Given the description of an element on the screen output the (x, y) to click on. 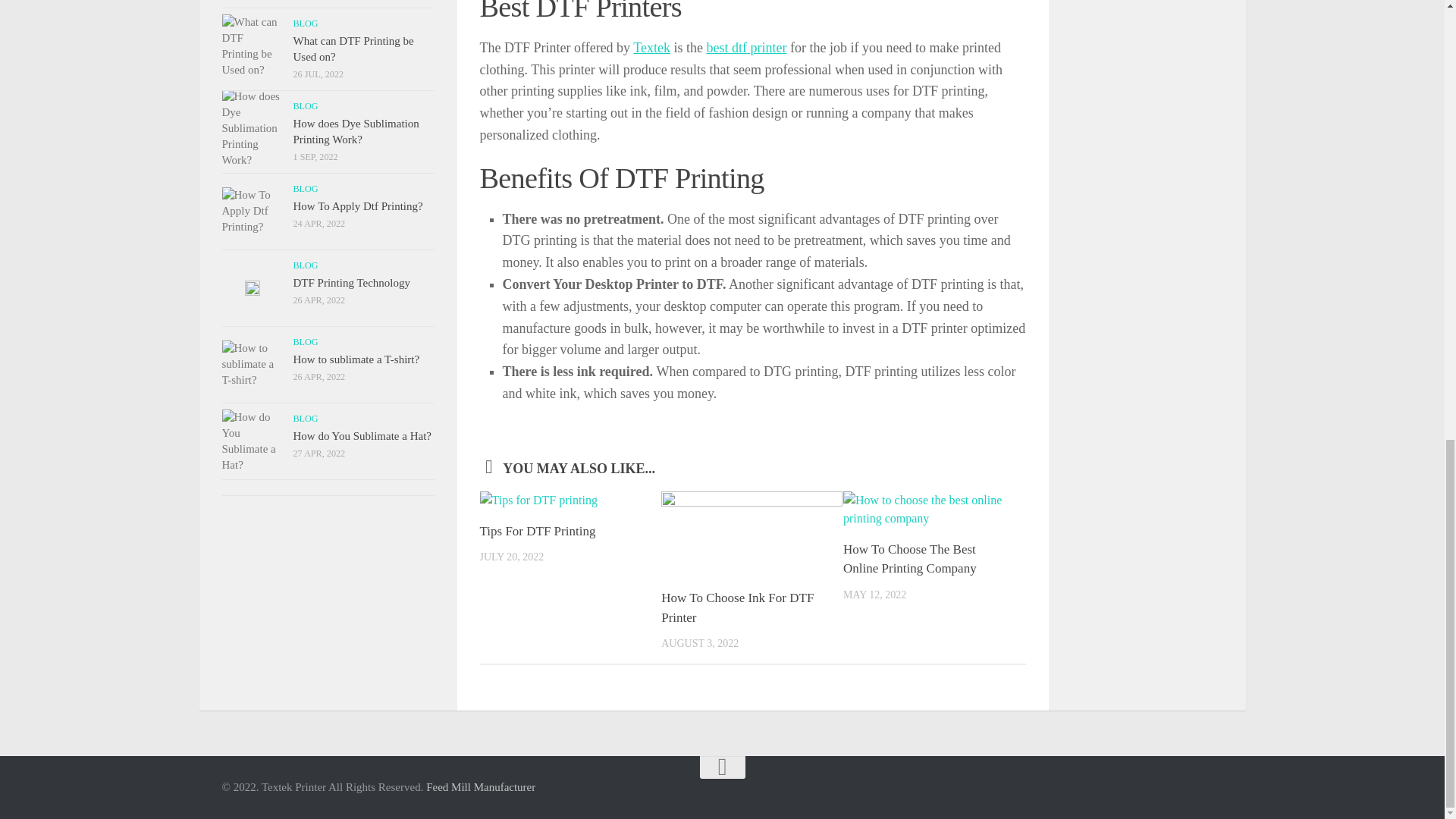
Textek (651, 47)
How To Choose The Best Online Printing Company (909, 559)
best dtf printer (746, 47)
How To Choose Ink For DTF Printer (737, 607)
Tips For DTF Printing (537, 531)
